Given the description of an element on the screen output the (x, y) to click on. 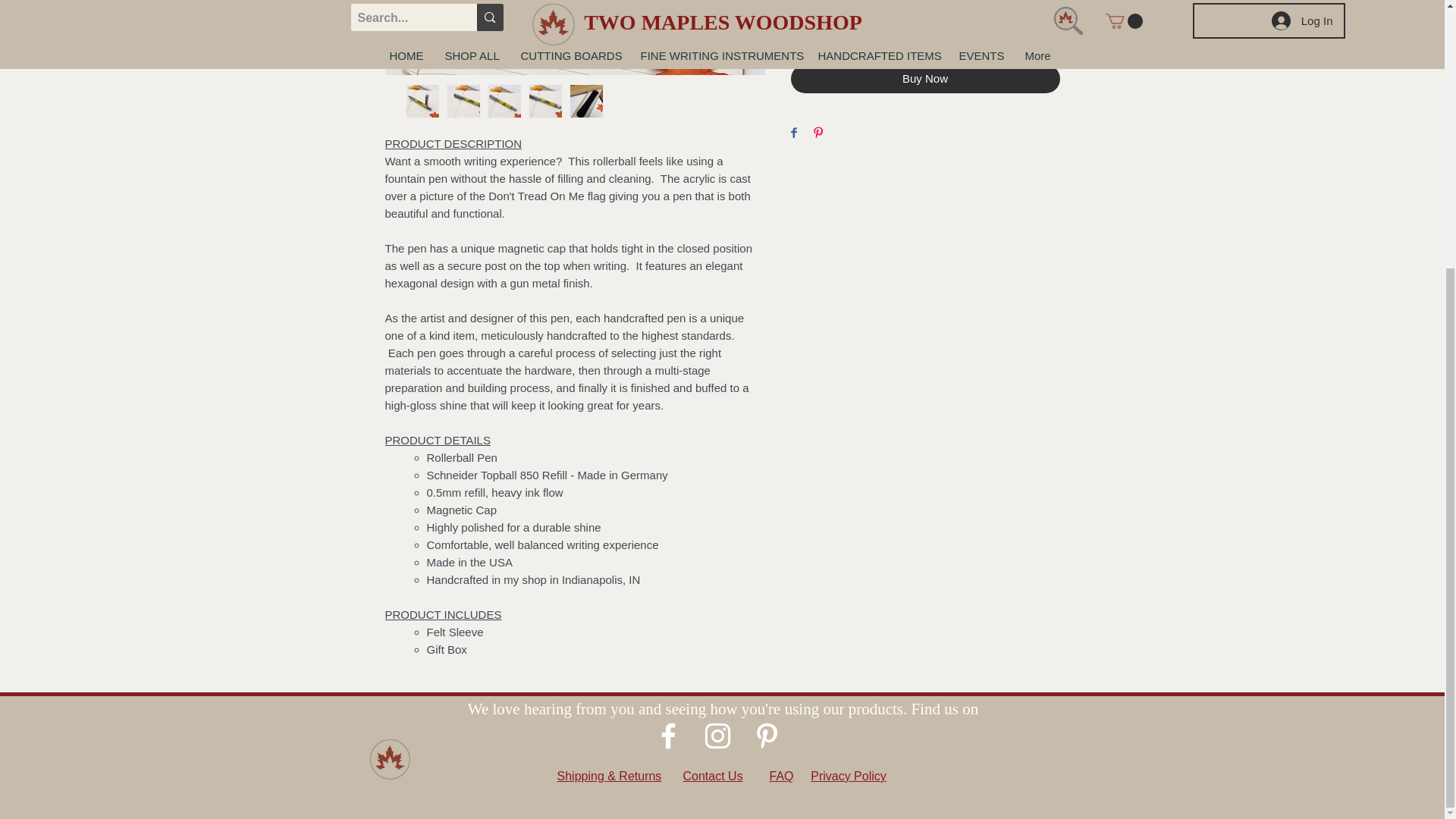
1 (820, 0)
